Given the description of an element on the screen output the (x, y) to click on. 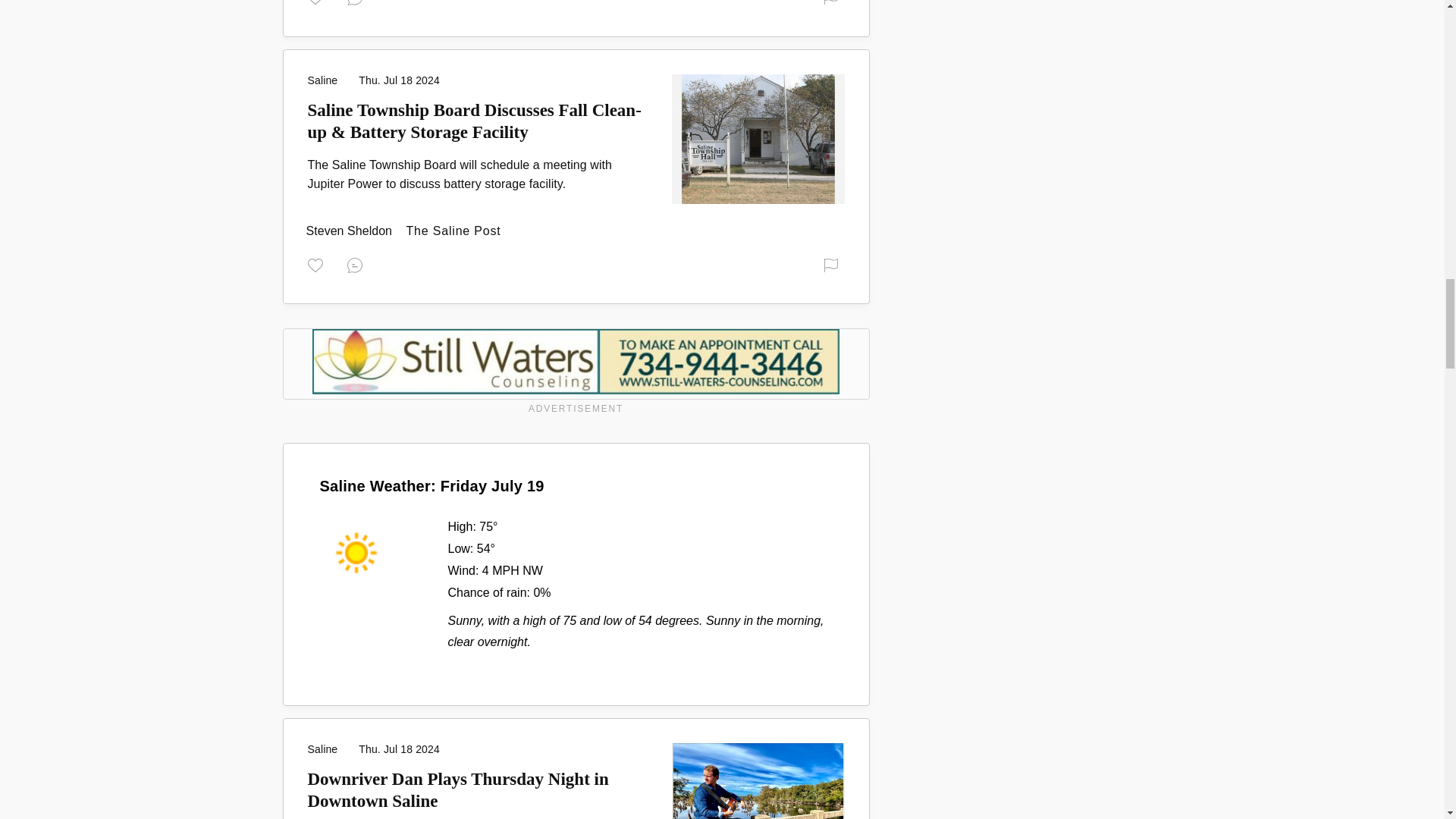
Thank (318, 2)
Thank (318, 263)
Reply (357, 2)
Reply (357, 263)
ADVERTISEMENT (575, 373)
